Given the description of an element on the screen output the (x, y) to click on. 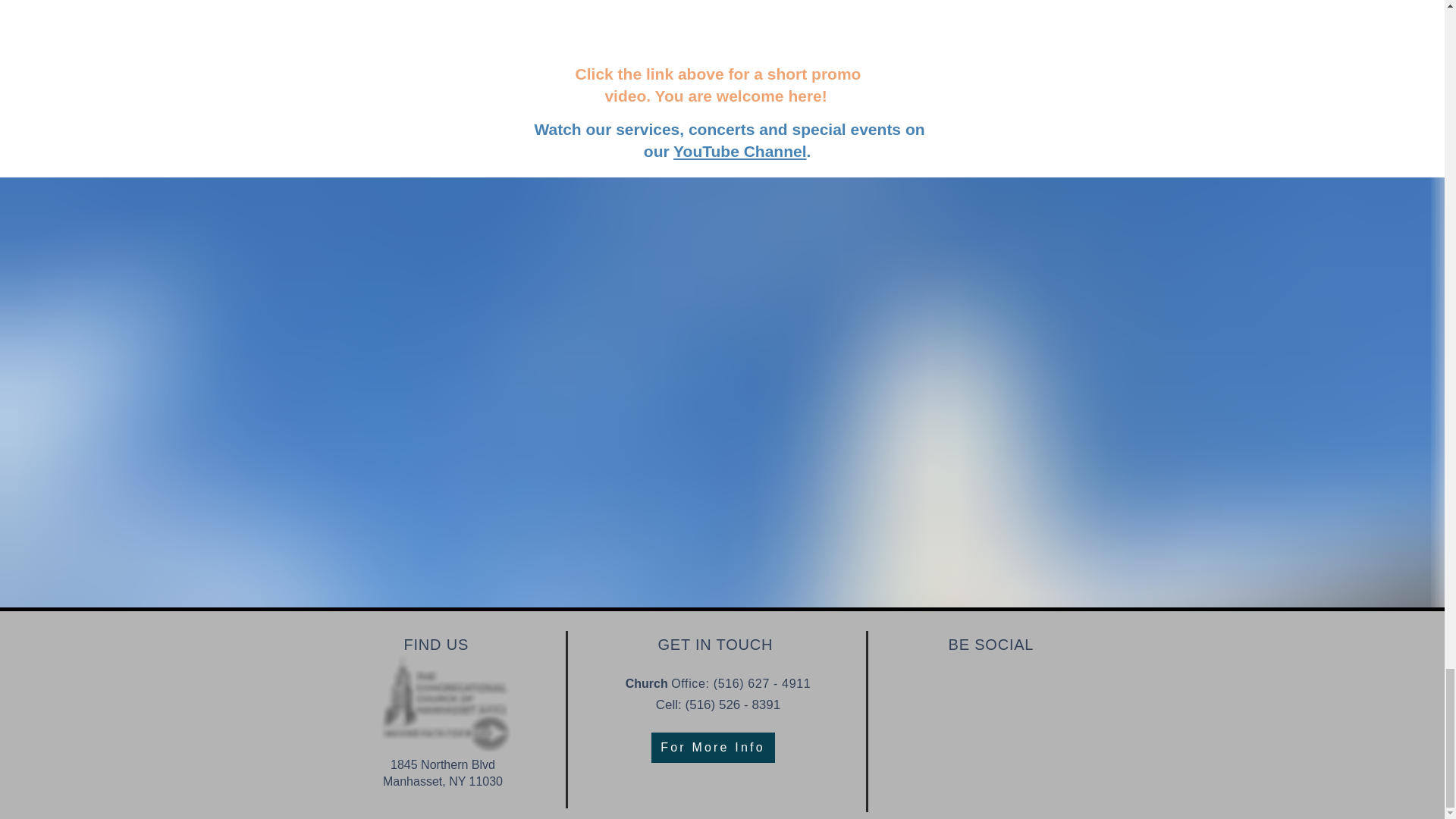
For More Info (712, 747)
YouTube Channel (739, 150)
